Given the description of an element on the screen output the (x, y) to click on. 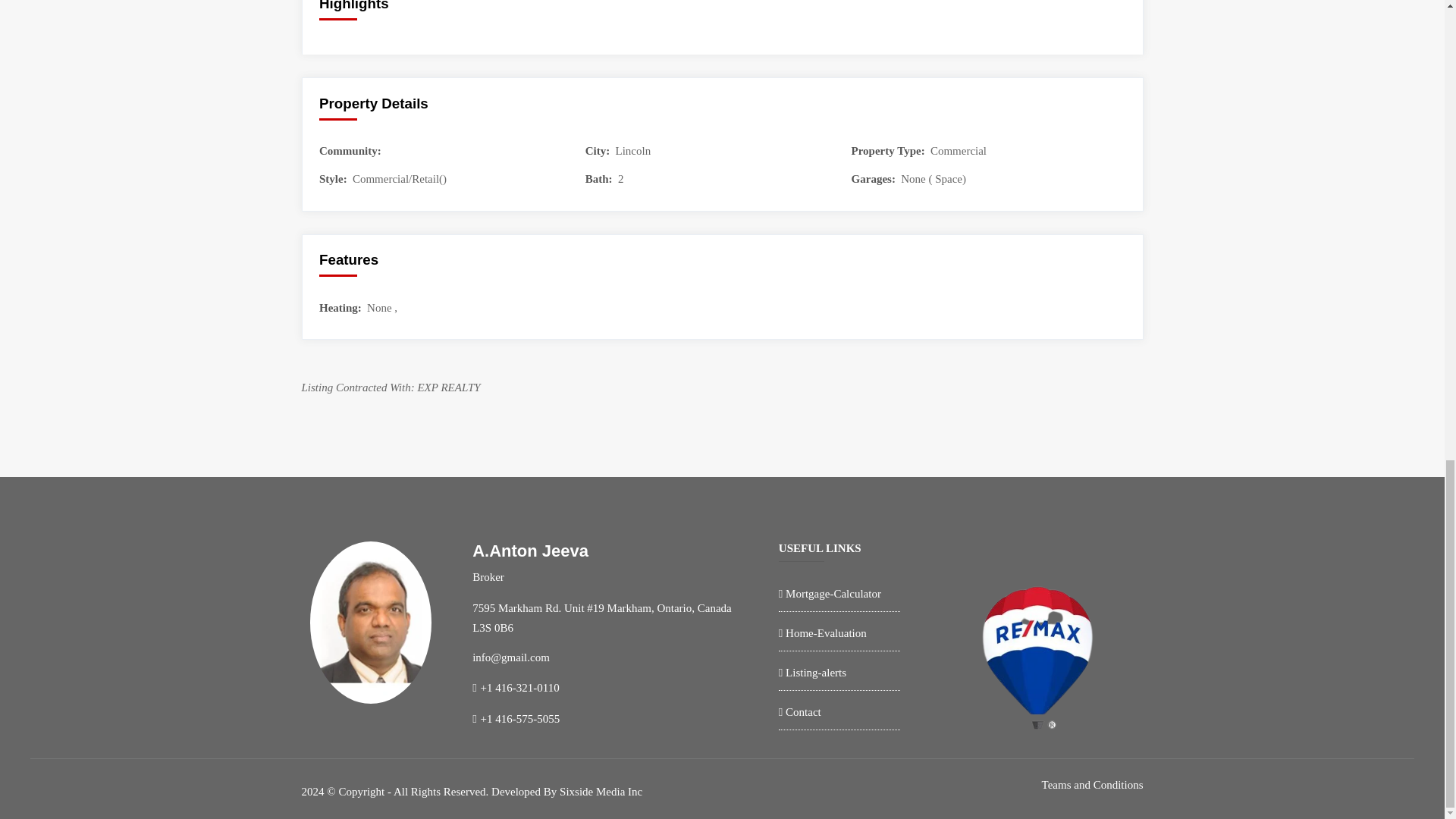
Listing-alerts (815, 672)
Mortgage-Calculator (833, 593)
Sixside Media Inc (600, 791)
Home-Evaluation (826, 633)
Teams and Conditions (1092, 789)
Contact (803, 711)
